Given the description of an element on the screen output the (x, y) to click on. 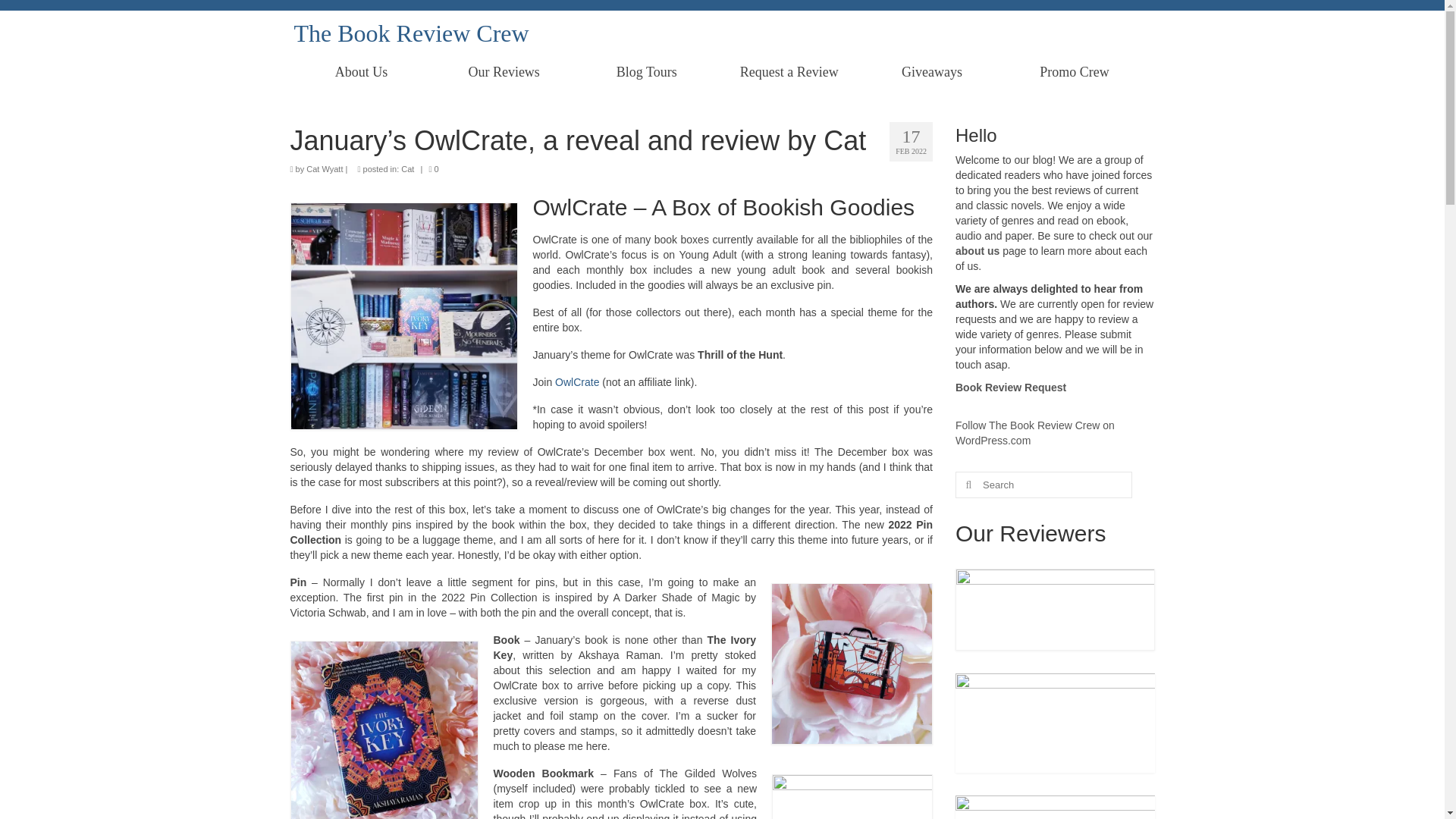
Follow The Book Review Crew on WordPress.com (1035, 432)
Cat (407, 168)
about us (976, 250)
Our Reviews (503, 71)
Blog Tours (646, 71)
OwlCrate (576, 381)
Request a Review (788, 71)
Book Review Request (1010, 387)
Promo Crew (1074, 71)
Cat Wyatt (323, 168)
The Book Review Crew (411, 32)
Giveaways (931, 71)
About Us (360, 71)
